Given the description of an element on the screen output the (x, y) to click on. 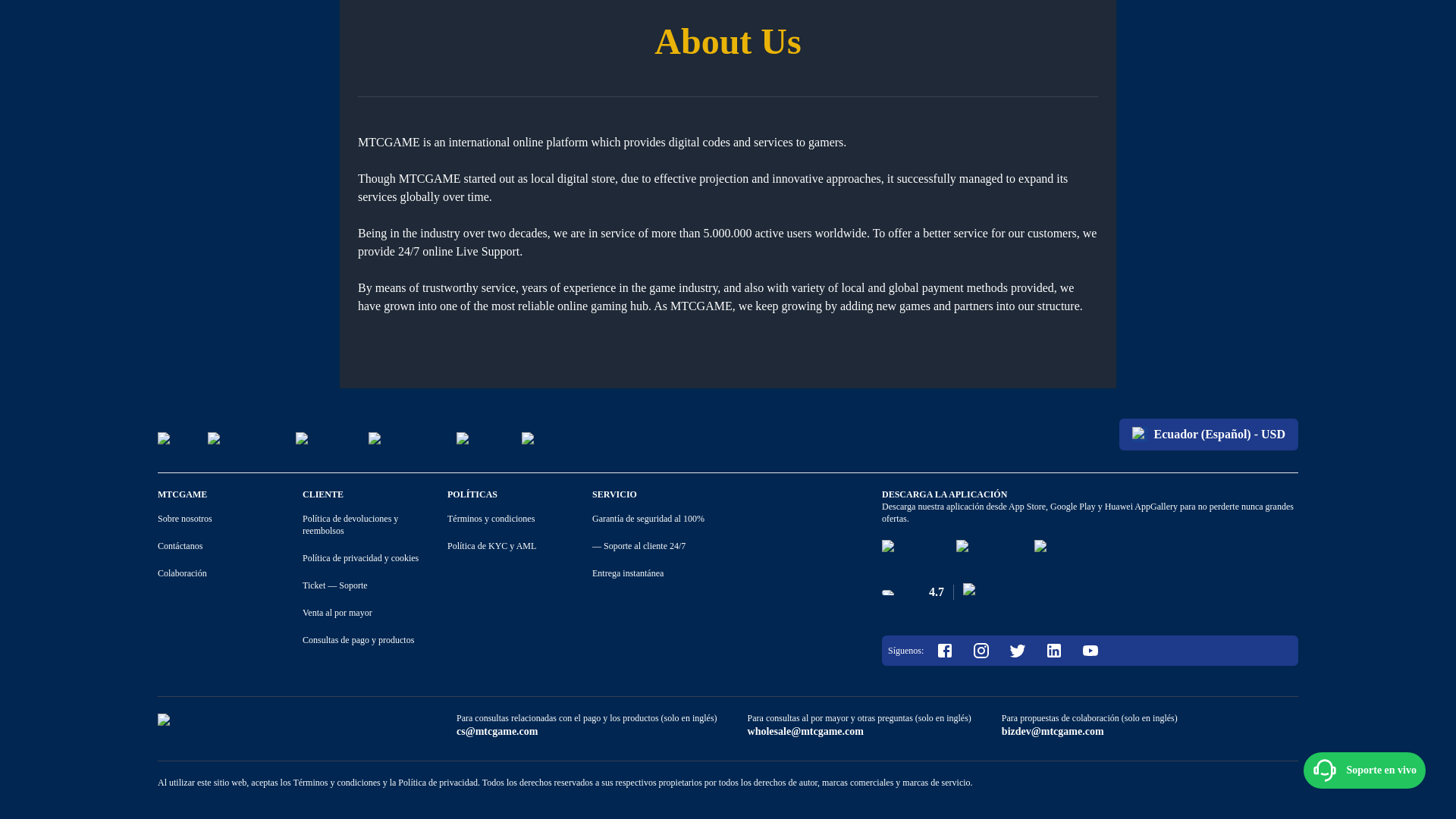
Ticket (313, 585)
Consultas de pago y productos (357, 639)
Venta al por mayor (337, 612)
Sobre nosotros (184, 518)
